Given the description of an element on the screen output the (x, y) to click on. 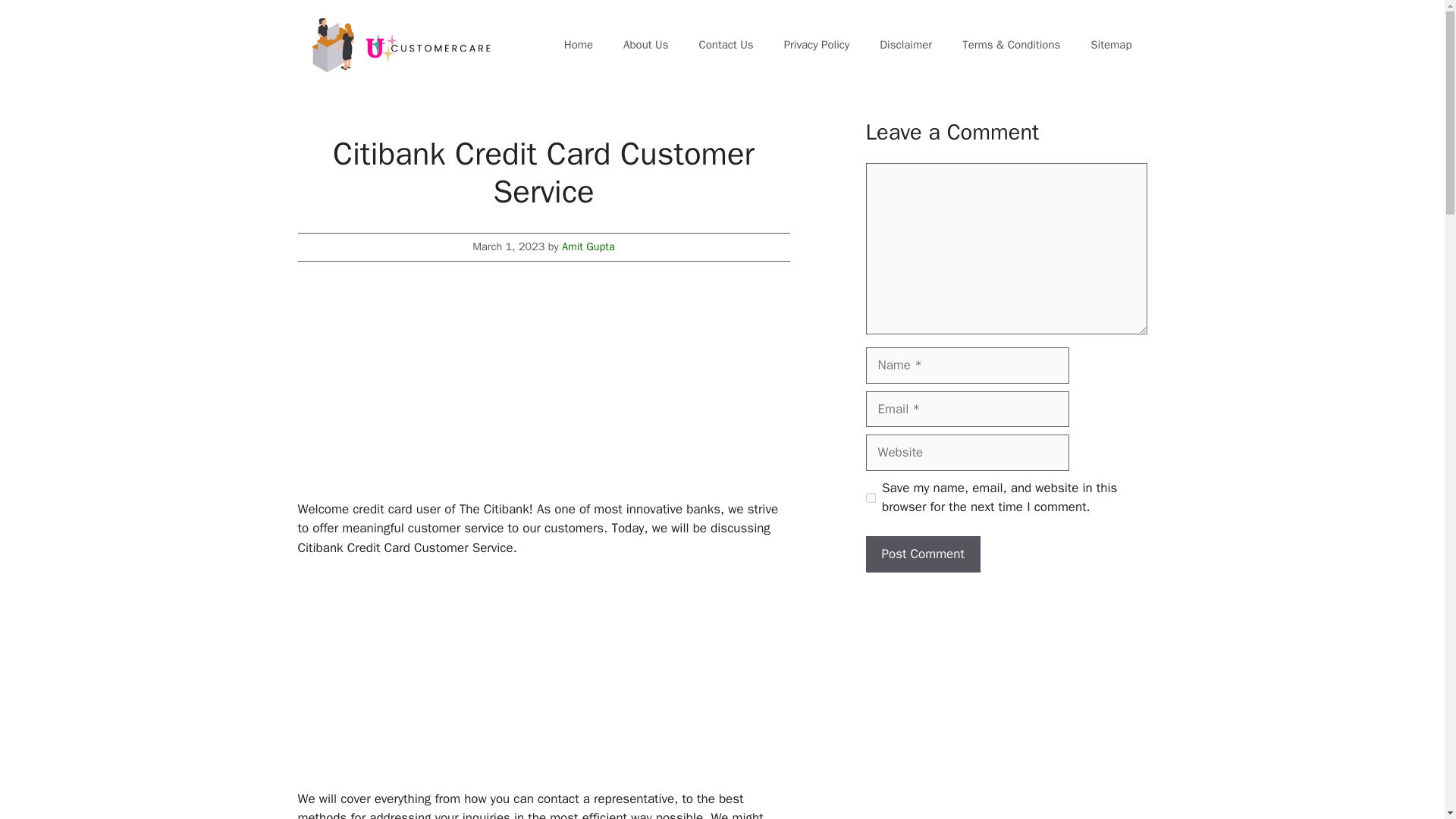
Sitemap (1111, 44)
UCustomerCare (399, 44)
UCustomerCare (399, 43)
Contact Us (725, 44)
Home (578, 44)
Advertisement (543, 393)
yes (871, 497)
View all posts by Amit Gupta (588, 246)
Amit Gupta (588, 246)
About Us (645, 44)
